Given the description of an element on the screen output the (x, y) to click on. 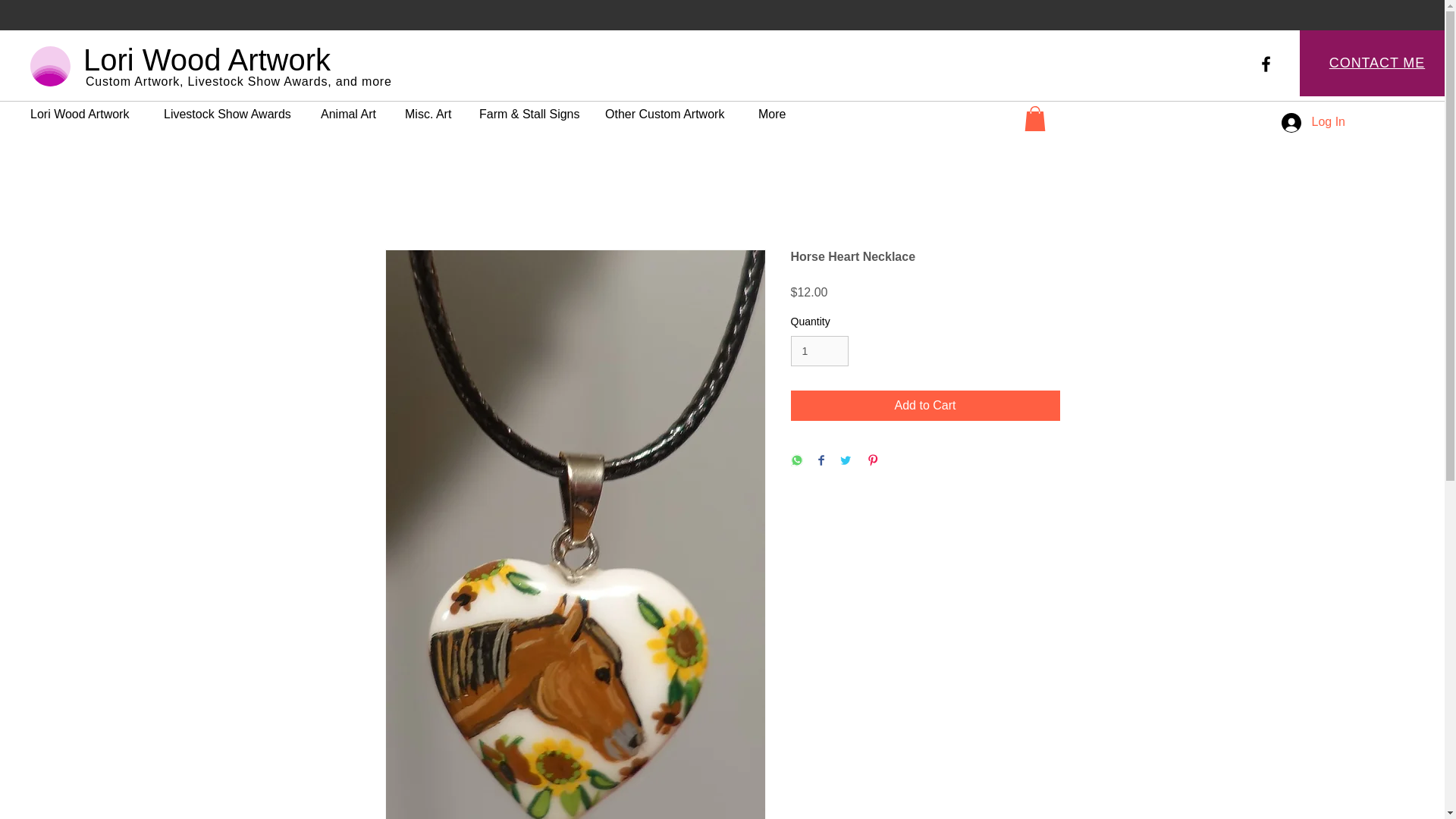
Other Custom Artwork (670, 107)
CONTACT ME (1377, 62)
Lori Wood Artwork (85, 107)
Lori Wood Artwork (206, 59)
Custom Artwork, Livestock Show Awards, and more (238, 81)
Misc. Art (430, 107)
Livestock Show Awards (230, 107)
Animal Art (350, 107)
Log In (1313, 121)
Add to Cart (924, 405)
1 (818, 350)
